Given the description of an element on the screen output the (x, y) to click on. 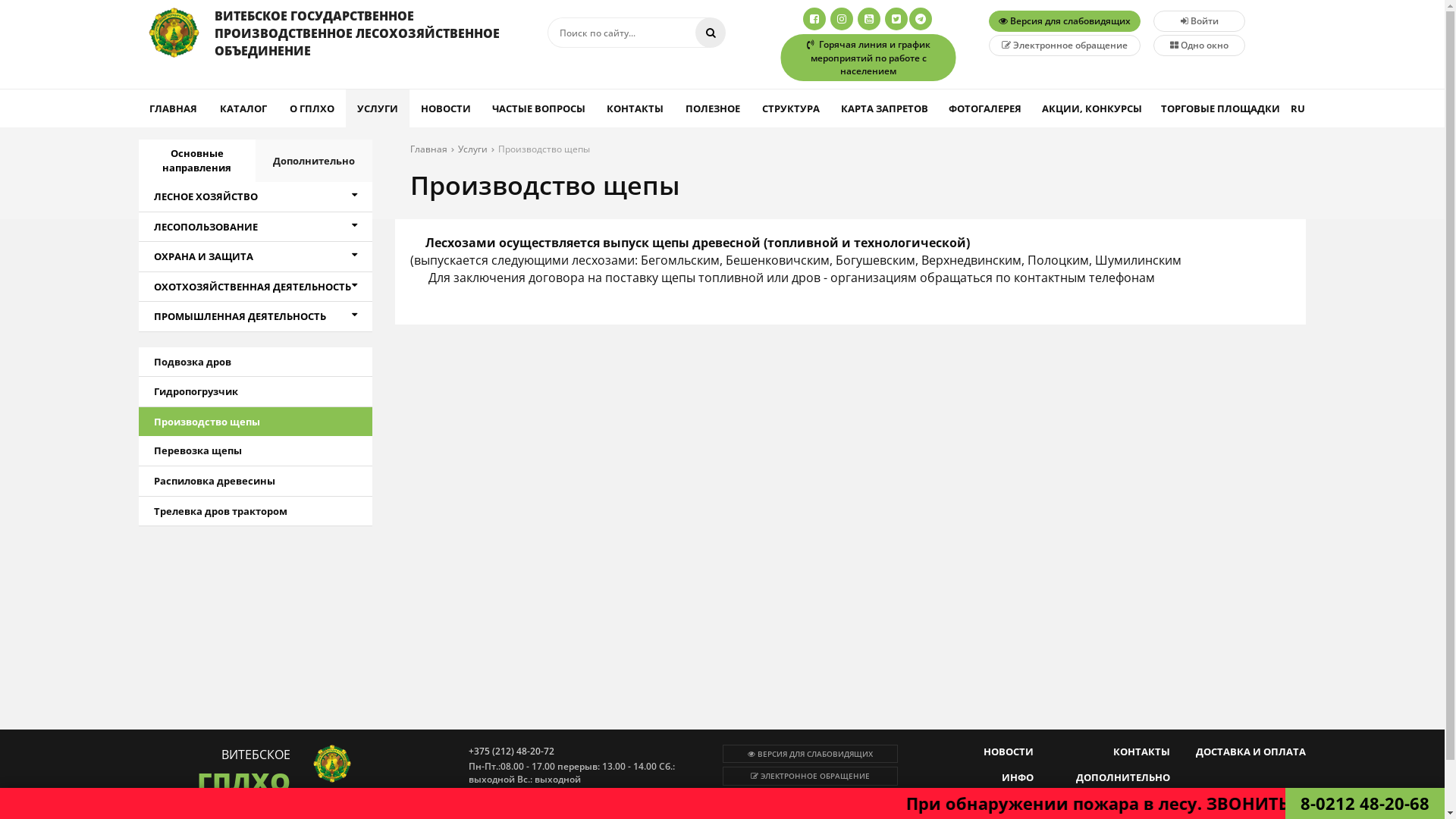
RU Element type: text (1297, 108)
+375 (212) 48-20-72 Element type: text (524, 750)
DessitesBY Element type: text (1285, 800)
8-0212 48-20-68 Element type: text (1364, 802)
